Given the description of an element on the screen output the (x, y) to click on. 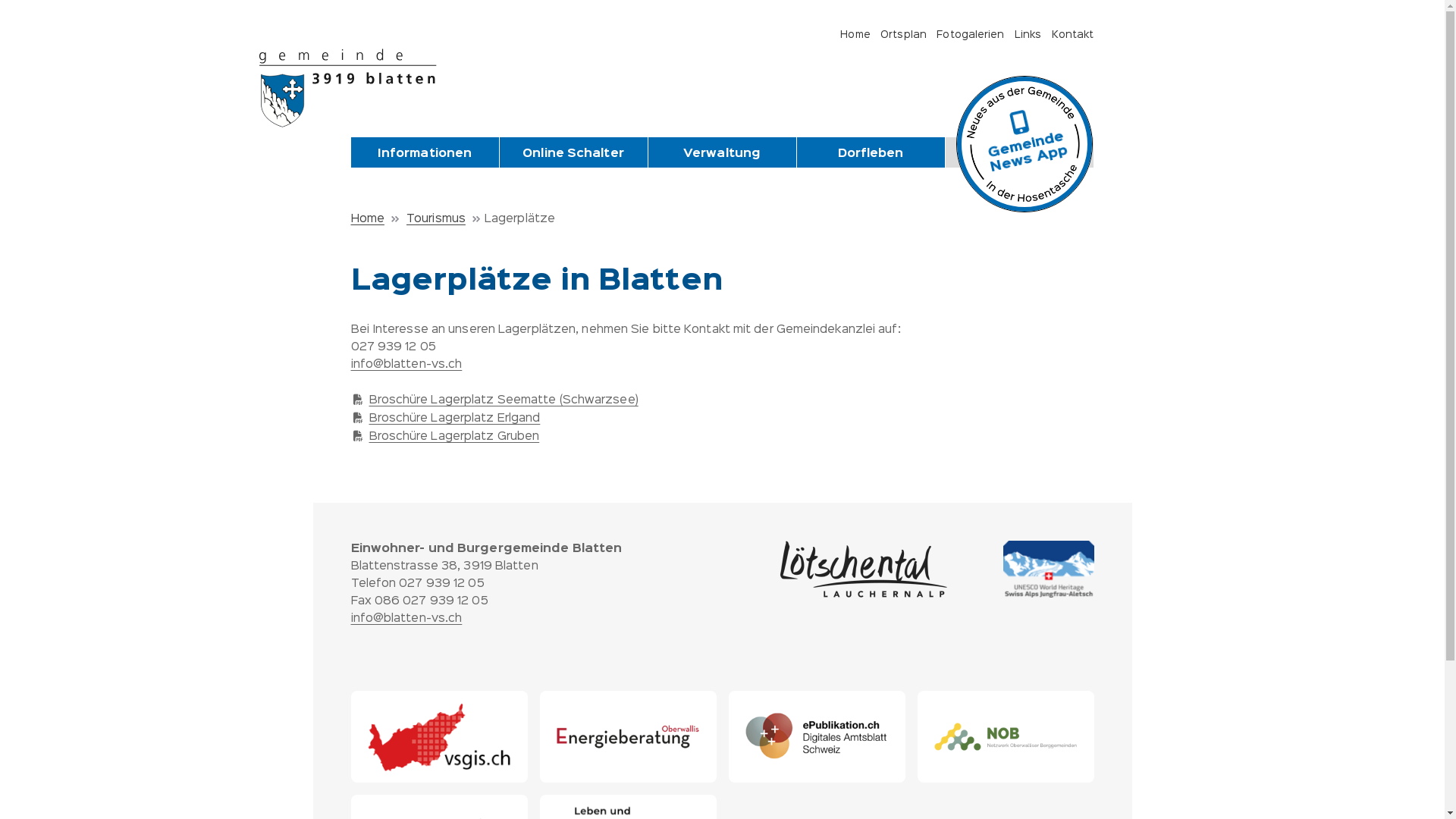
Online Schalter Element type: text (572, 153)
Ortsplan Element type: text (903, 34)
Tourismus Element type: text (1018, 152)
Informationen Element type: text (424, 153)
Dorfleben Element type: text (870, 153)
Kontakt Element type: text (1072, 34)
Verwaltung Element type: text (721, 153)
Home Element type: text (854, 34)
info@blatten-vs.ch Element type: text (405, 618)
info@blatten-vs.ch Element type: text (405, 364)
Home Element type: text (376, 218)
Tourismus Element type: text (445, 218)
Zur Startseite wechseln Element type: hover (354, 87)
Links Element type: text (1027, 34)
Fotogalerien Element type: text (970, 34)
